Given the description of an element on the screen output the (x, y) to click on. 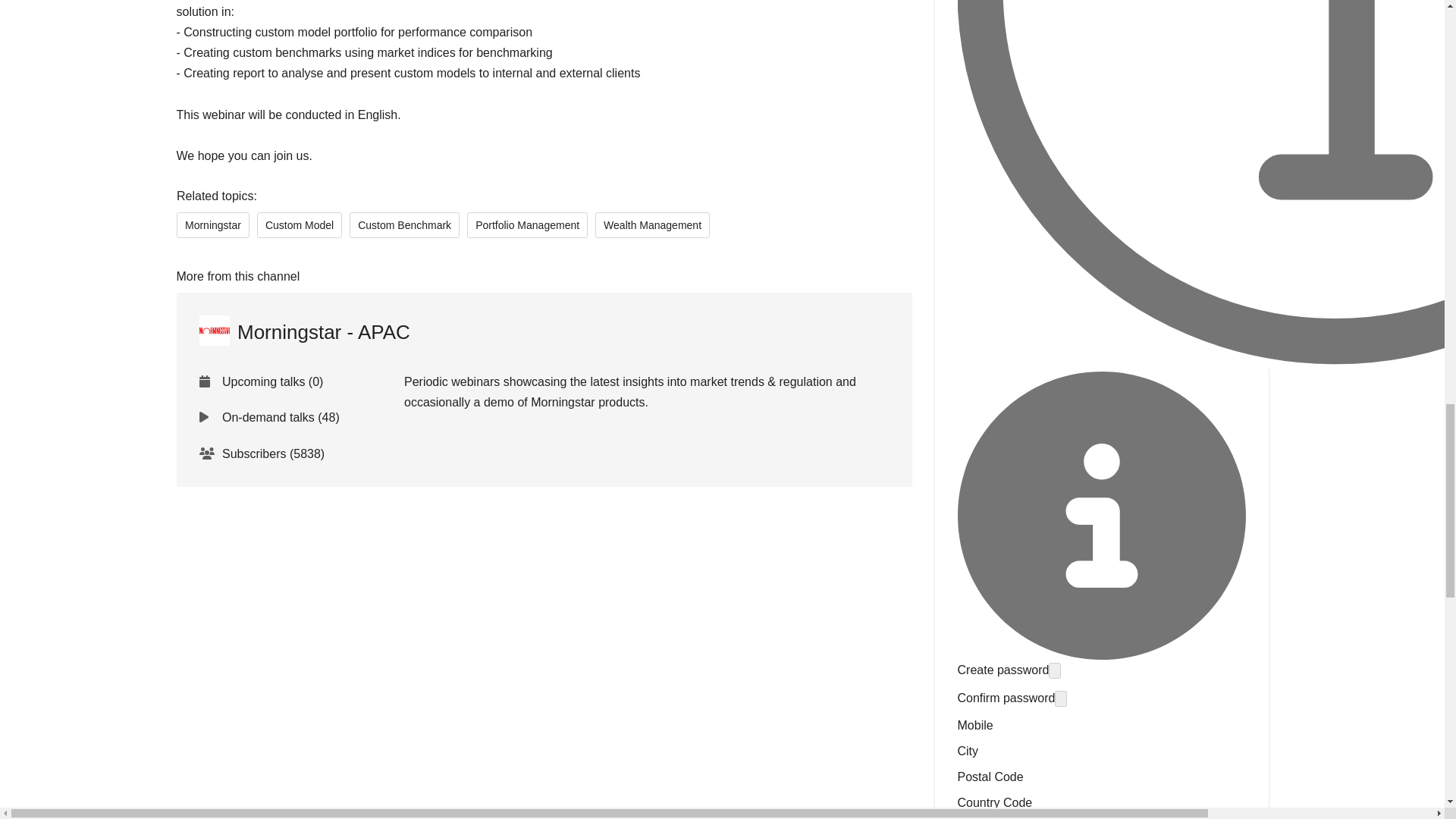
Portfolio Management (527, 225)
Custom Benchmark (404, 225)
Morningstar (212, 225)
Custom Model (298, 225)
Visit Morningstar - APAC's channel (303, 331)
Morningstar - APAC (303, 331)
Wealth Management (652, 225)
